Given the description of an element on the screen output the (x, y) to click on. 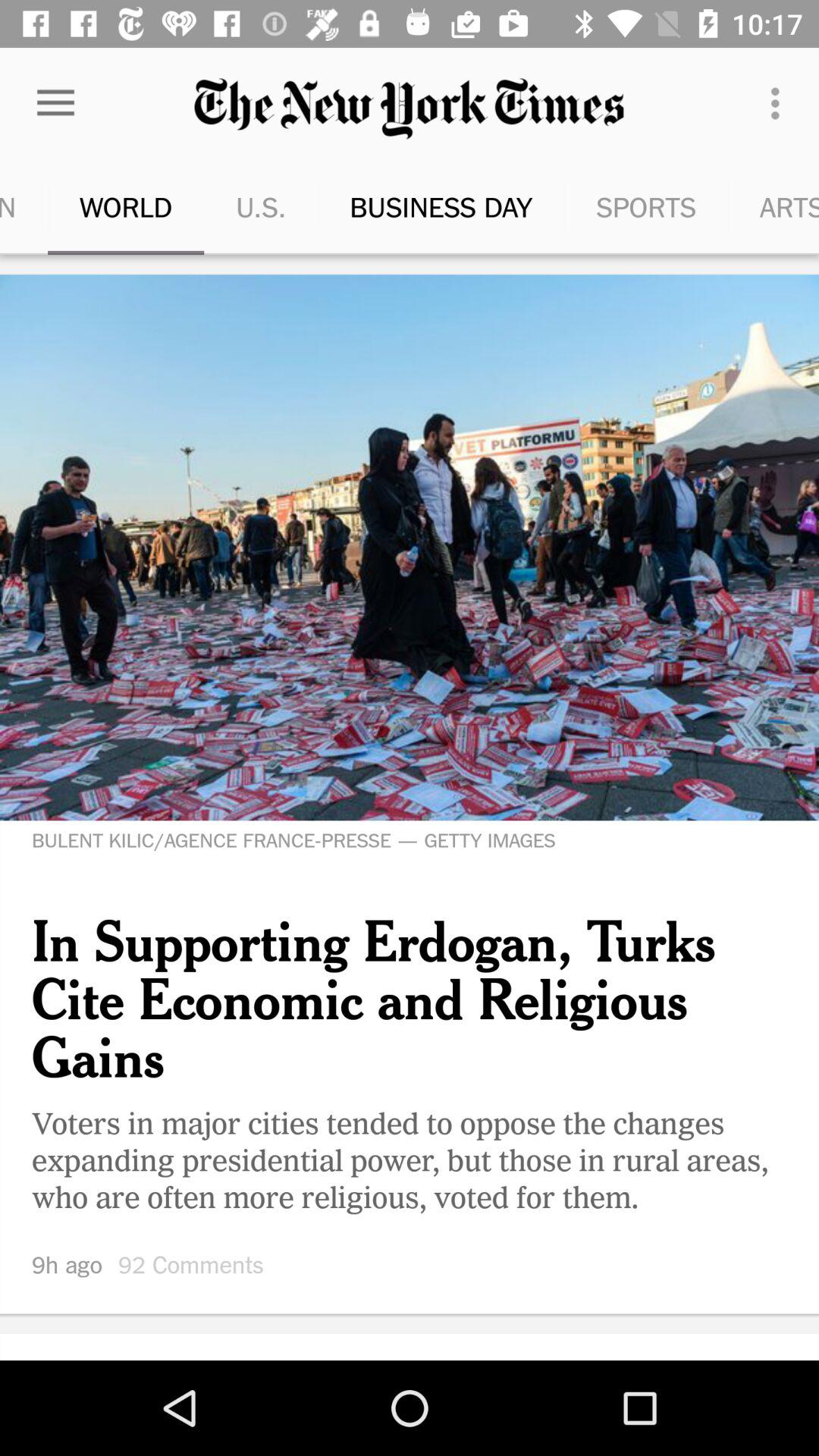
select icon next to the u.s. icon (402, 206)
